Given the description of an element on the screen output the (x, y) to click on. 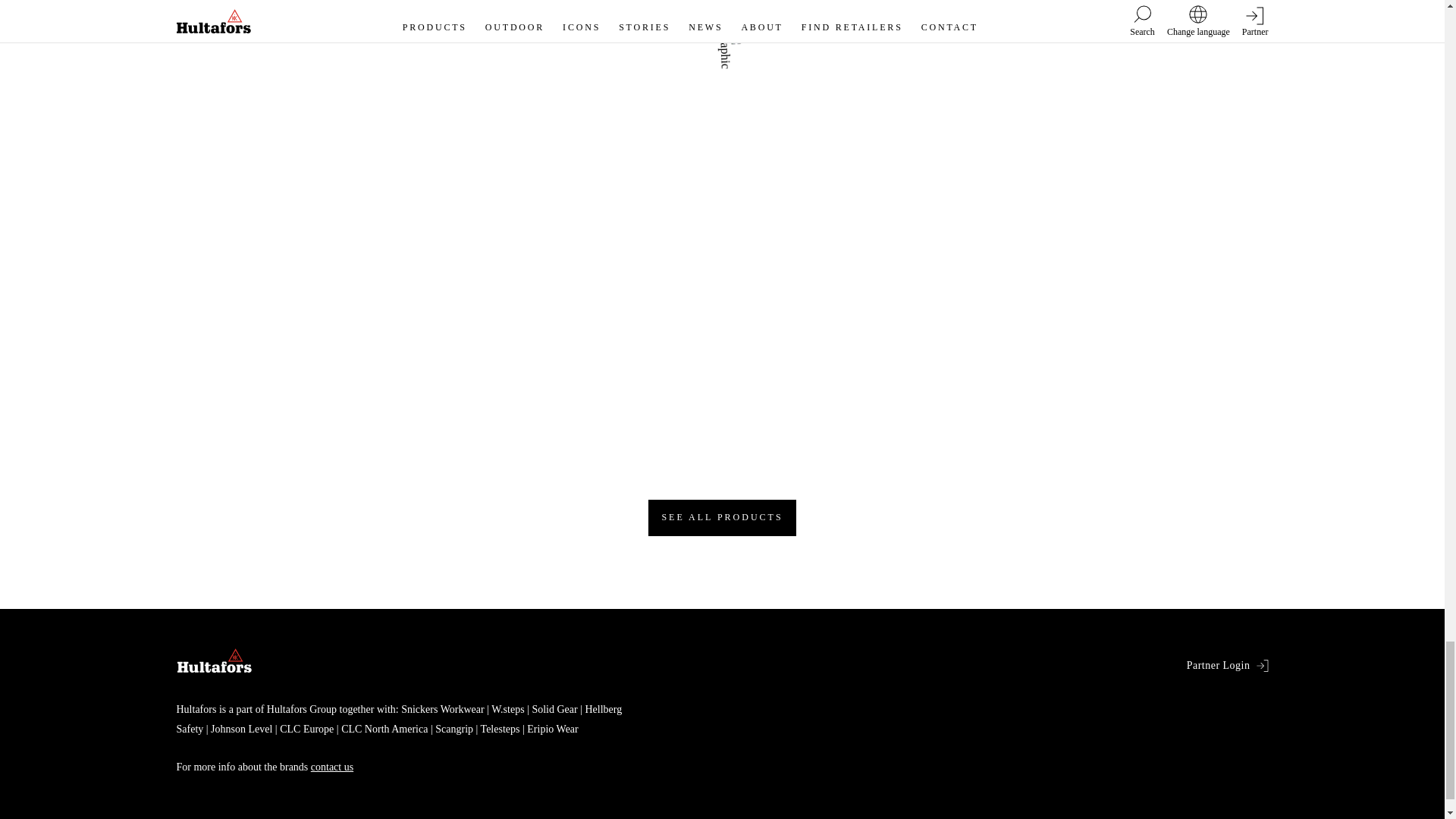
CLC Europe (302, 728)
Eripio Wear (548, 728)
W.steps (504, 708)
Solid Gear (551, 708)
CLC North America (380, 728)
Telesteps (496, 728)
Hultafors Group (301, 708)
SEE ALL PRODUCTS (720, 517)
Scangrip (450, 728)
Johnson Level (237, 728)
Snickers Workwear (442, 708)
contact us (332, 767)
Partner Login (1227, 665)
Hellberg Safety (398, 718)
